Given the description of an element on the screen output the (x, y) to click on. 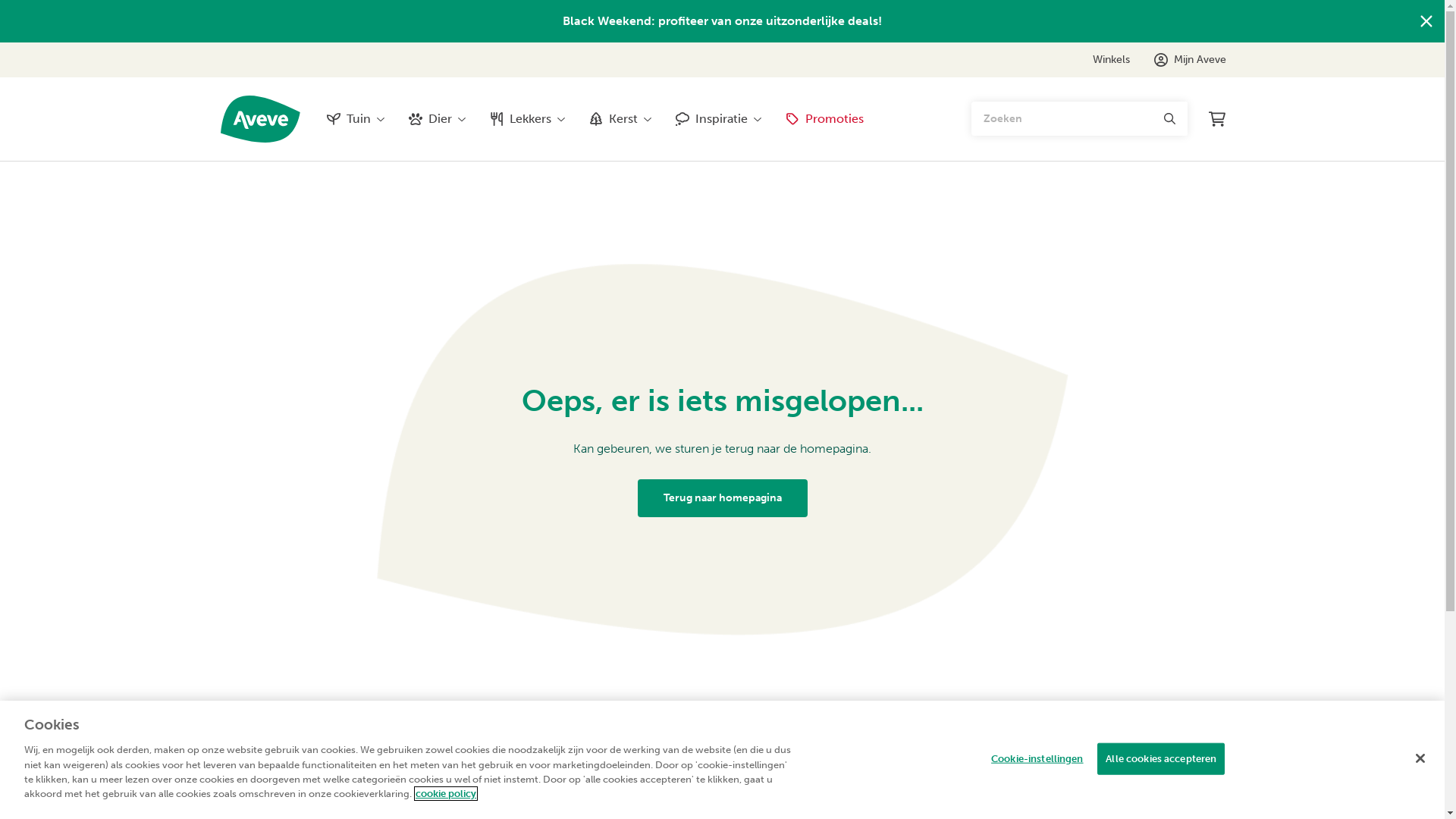
Cart Element type: text (1216, 118)
Terug naar homepagina Element type: text (721, 498)
Black Weekend: profiteer van onze uitzonderlijke deals! Element type: text (721, 20)
Alle cookies accepteren Element type: text (1160, 759)
Lekkers Element type: text (526, 118)
Tuin Element type: text (355, 118)
cookie policy Element type: text (445, 793)
Kerst Element type: text (620, 118)
Inspiratie Element type: text (718, 118)
Aveve logo Element type: hover (260, 118)
Mijn Aveve Element type: text (1190, 59)
Cookie-instellingen Element type: text (1036, 758)
Promoties Element type: text (824, 118)
Dier Element type: text (436, 118)
Aveve Element type: text (260, 118)
Winkels Element type: text (1110, 59)
